Given the description of an element on the screen output the (x, y) to click on. 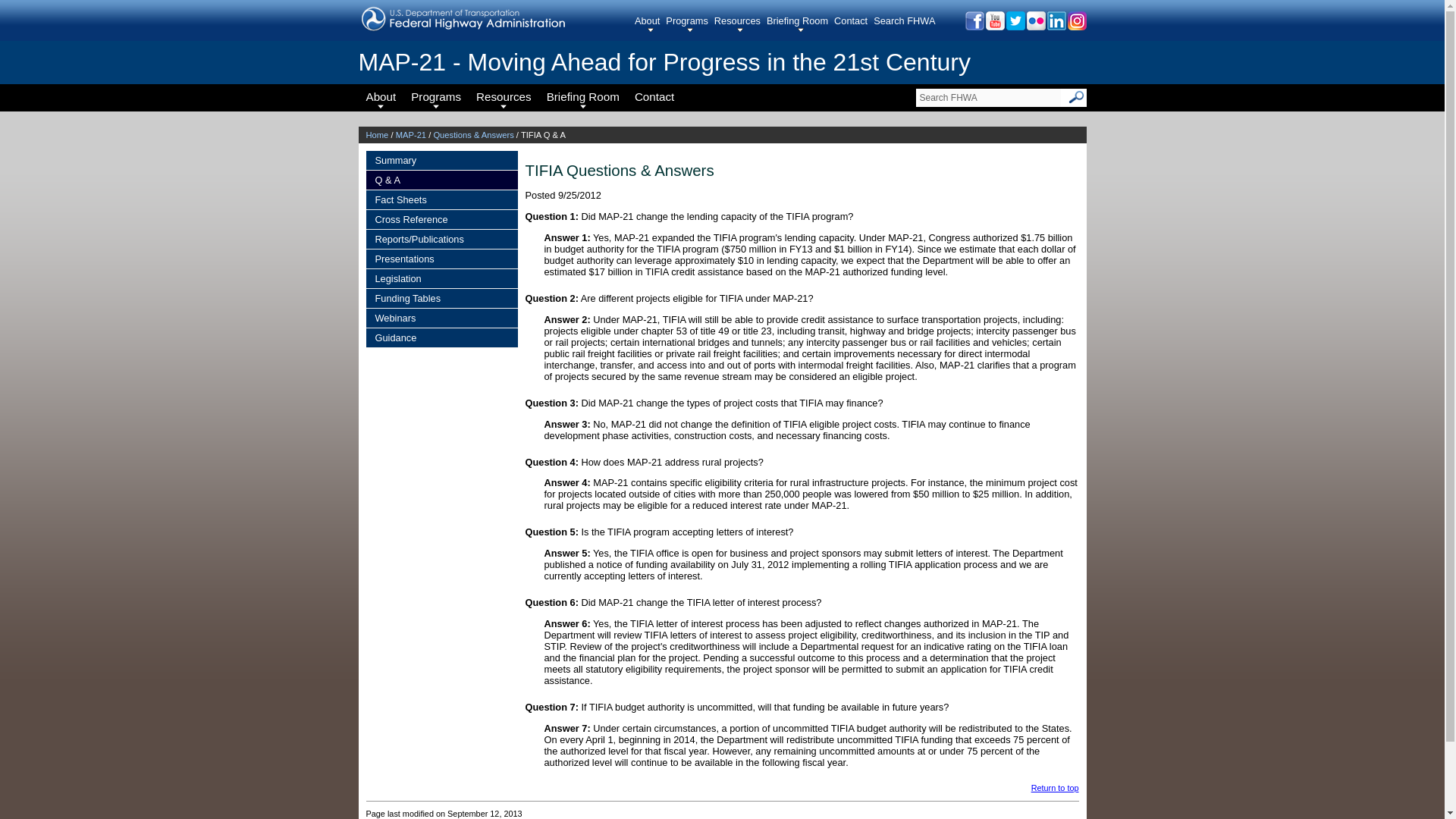
Search (1076, 96)
Resources (740, 23)
Briefing Room (800, 23)
Programs (689, 23)
Search FHWA (988, 97)
Like Us on Facebook (973, 25)
About (649, 23)
Follow Us on Twitter (1014, 25)
Watch Us on YouTube (994, 25)
Search FHWA (988, 97)
